Given the description of an element on the screen output the (x, y) to click on. 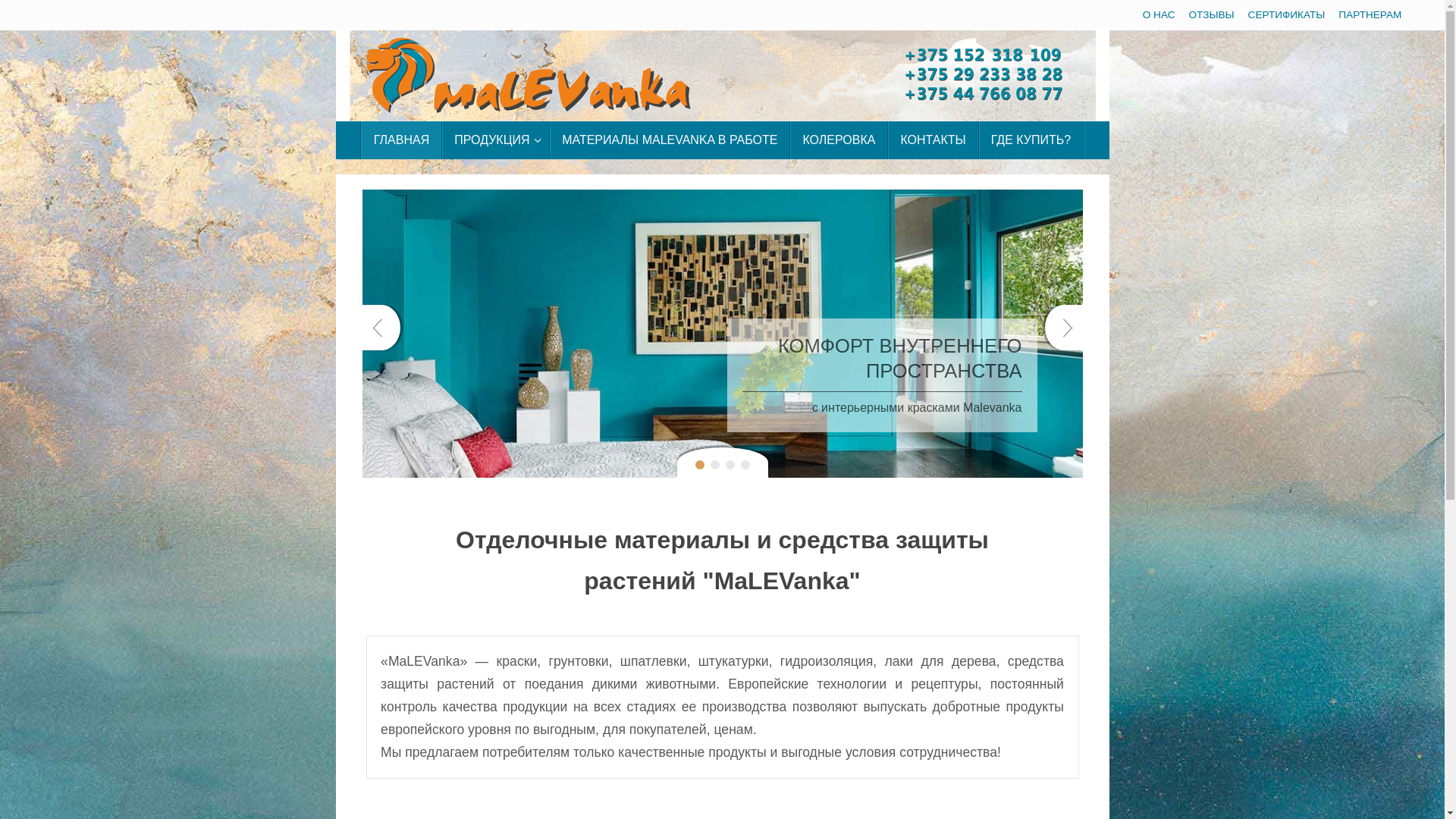
Next Element type: text (1063, 327)
Prev Element type: text (381, 327)
2 Element type: text (713, 464)
3 Element type: text (729, 464)
1 Element type: text (698, 464)
4 Element type: text (744, 464)
